Given the description of an element on the screen output the (x, y) to click on. 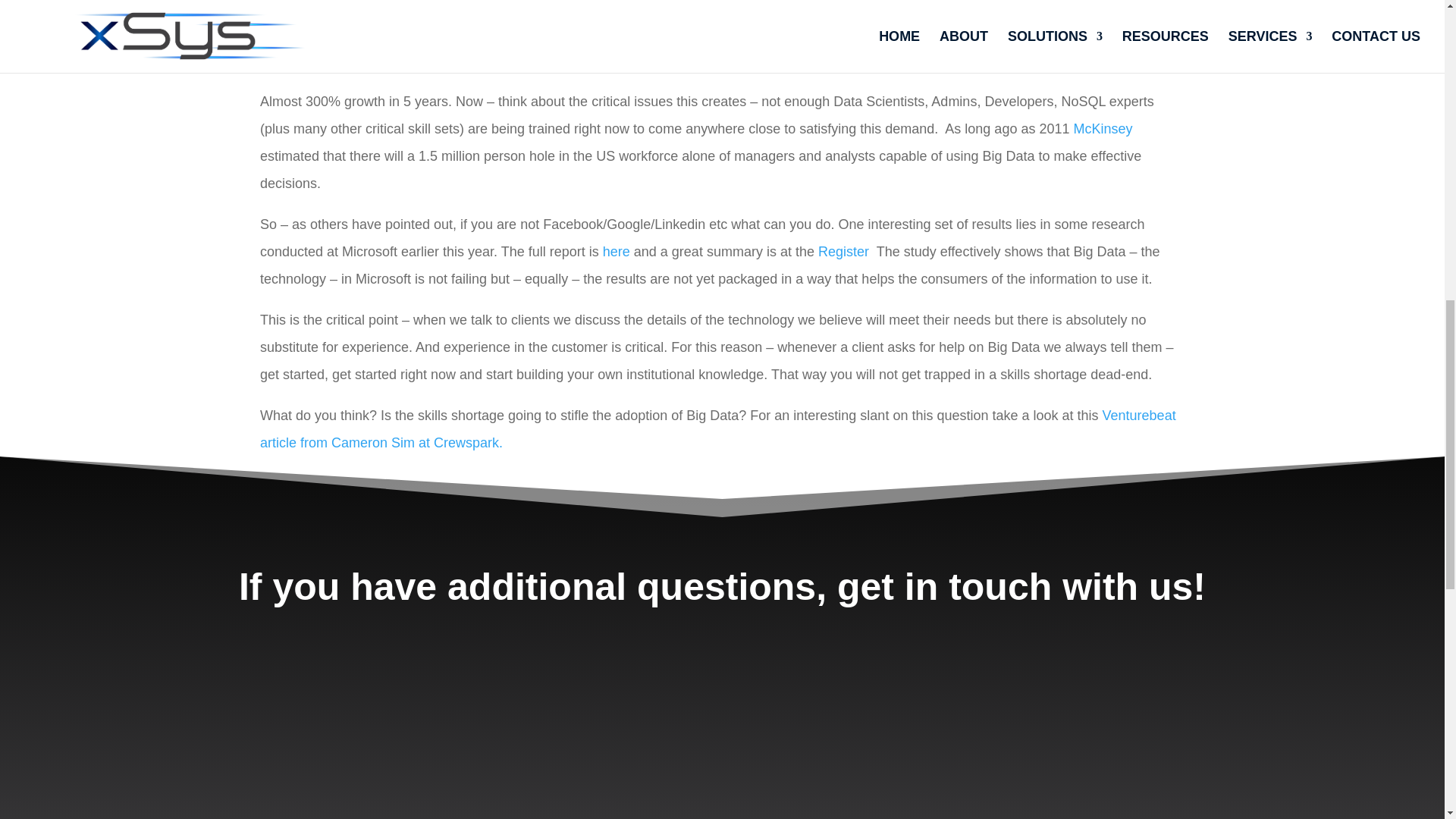
McKinsey (1102, 128)
Register  (845, 251)
Venturebeat article from Cameron Sim at Crewspark. (718, 428)
here  (617, 251)
